Given the description of an element on the screen output the (x, y) to click on. 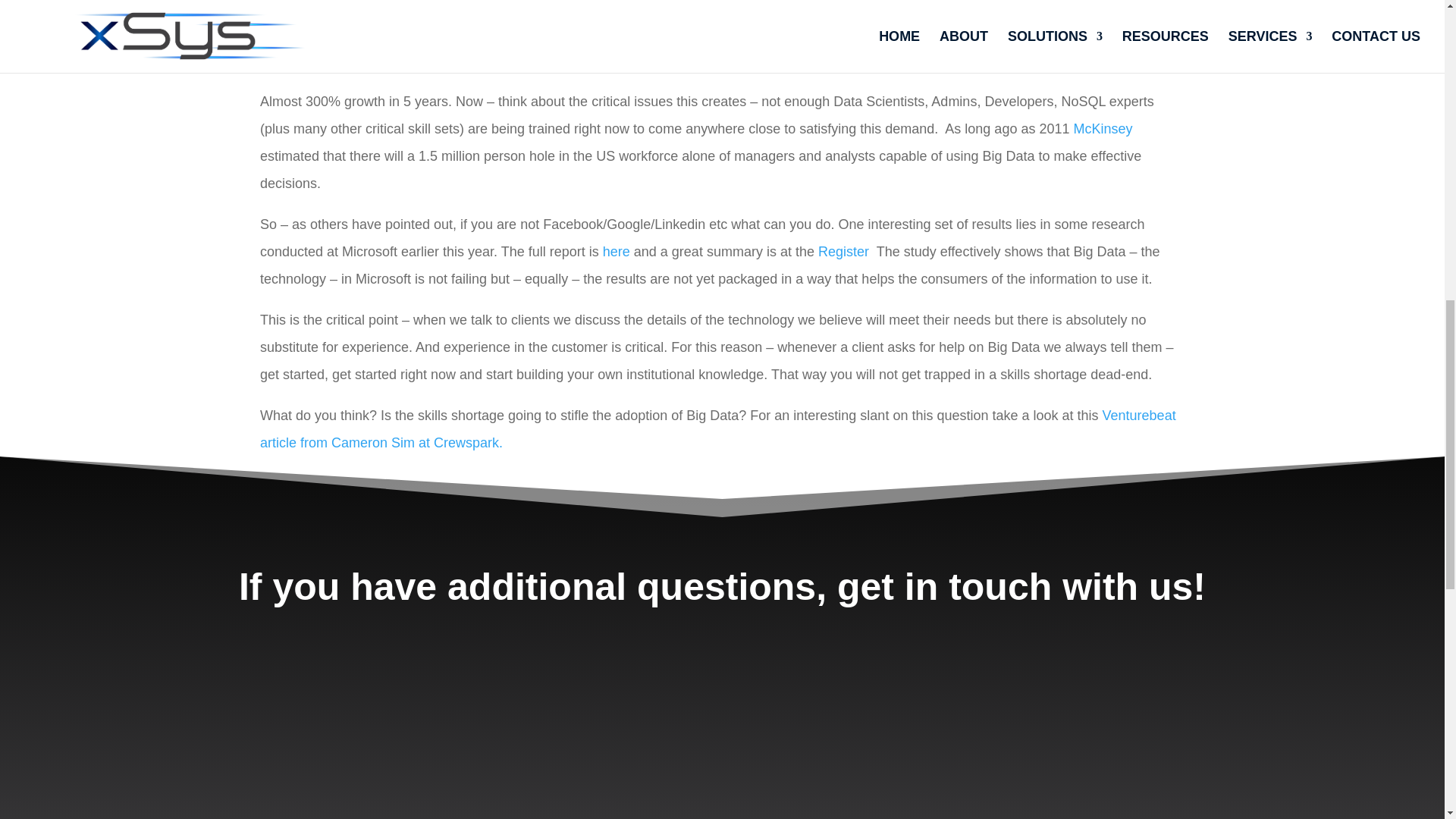
McKinsey (1102, 128)
Register  (845, 251)
Venturebeat article from Cameron Sim at Crewspark. (718, 428)
here  (617, 251)
